Given the description of an element on the screen output the (x, y) to click on. 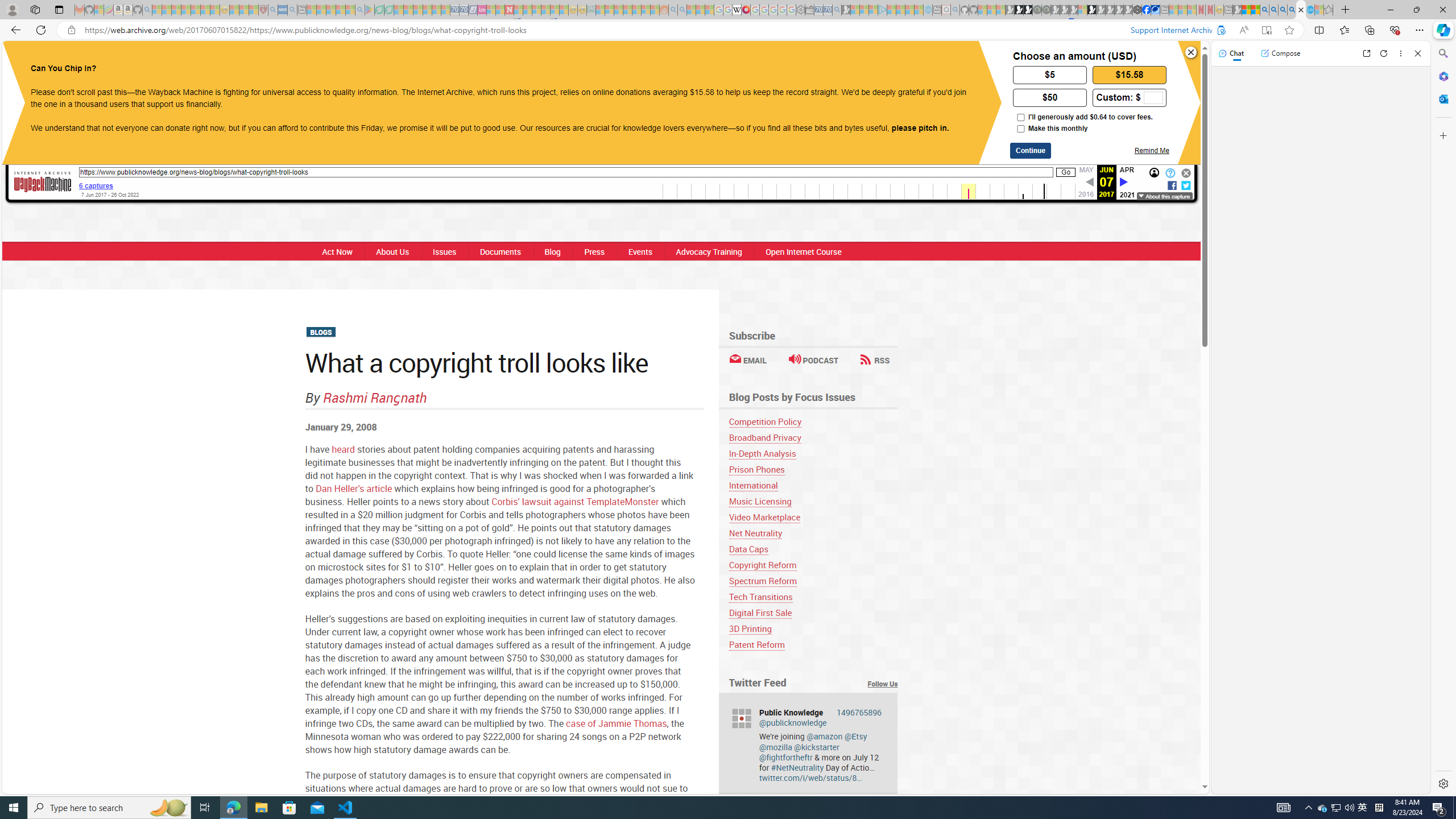
Documents (500, 251)
ACT NOW (783, 60)
utah sues federal government - Search - Sleeping (291, 9)
#NetNeutrality (797, 767)
Microsoft Start Gaming - Sleeping (846, 9)
Issues (443, 251)
PODCAST (812, 360)
